Given the description of an element on the screen output the (x, y) to click on. 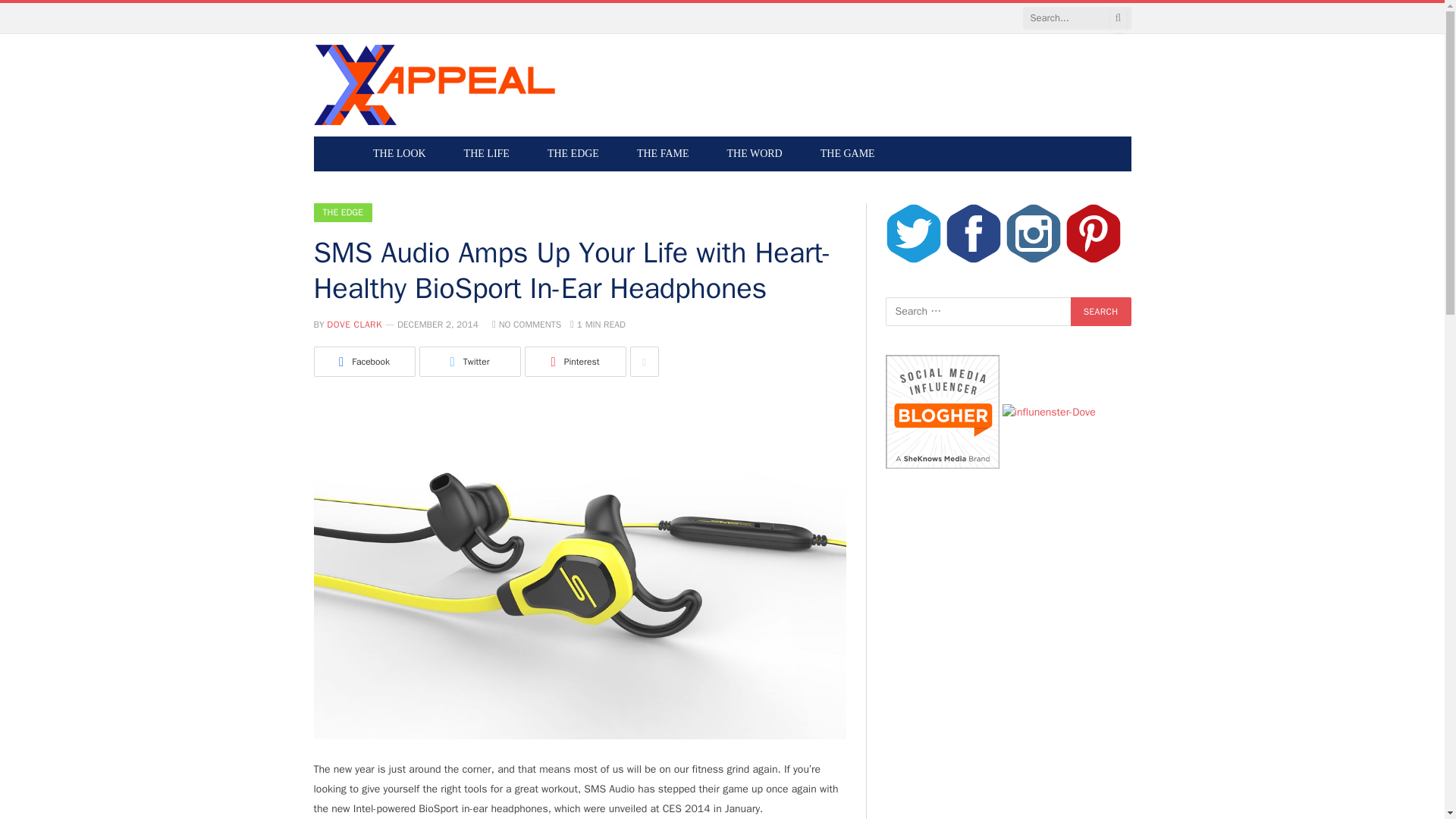
NO COMMENTS (526, 324)
THE EDGE (572, 153)
THE FAME (662, 153)
THE WORD (754, 153)
Xappeal (435, 85)
Twitter (469, 361)
Facebook (364, 361)
THE GAME (847, 153)
THE LIFE (486, 153)
DOVE CLARK (353, 324)
